Given the description of an element on the screen output the (x, y) to click on. 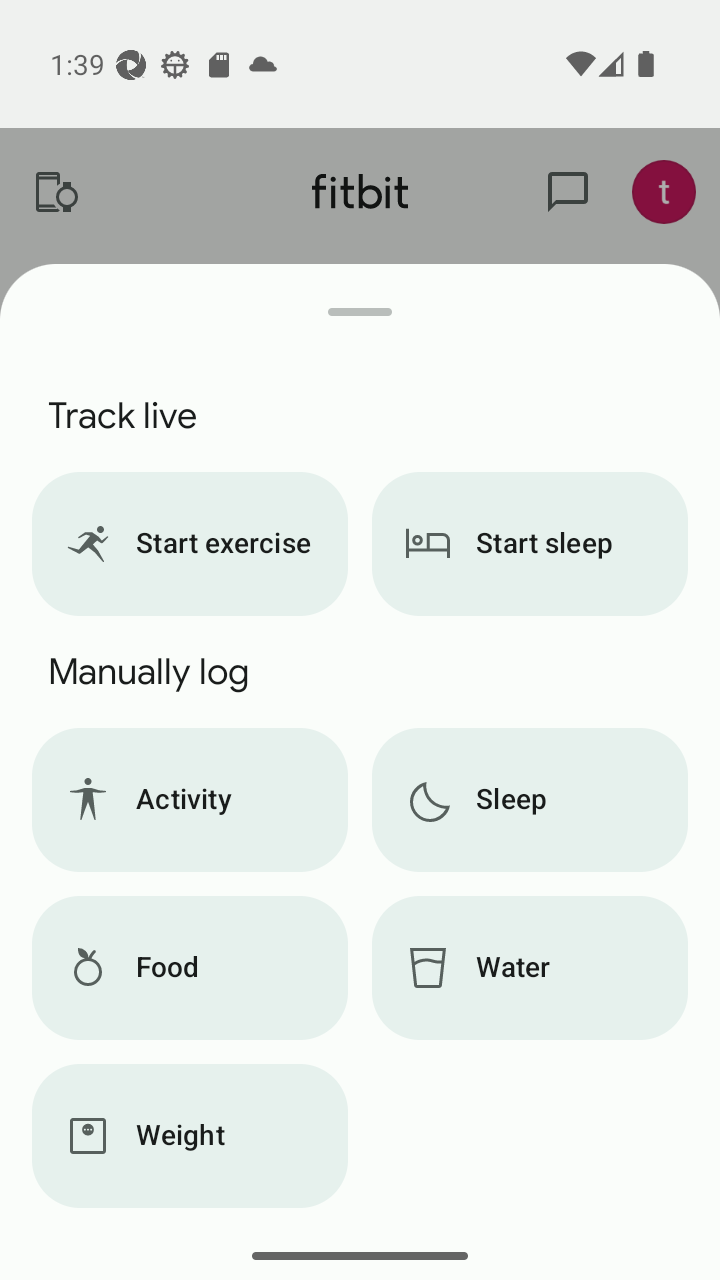
Start exercise (189, 543)
Start sleep (530, 543)
Activity (189, 799)
Sleep (530, 799)
Food (189, 967)
Water (530, 967)
Weight (189, 1135)
